Given the description of an element on the screen output the (x, y) to click on. 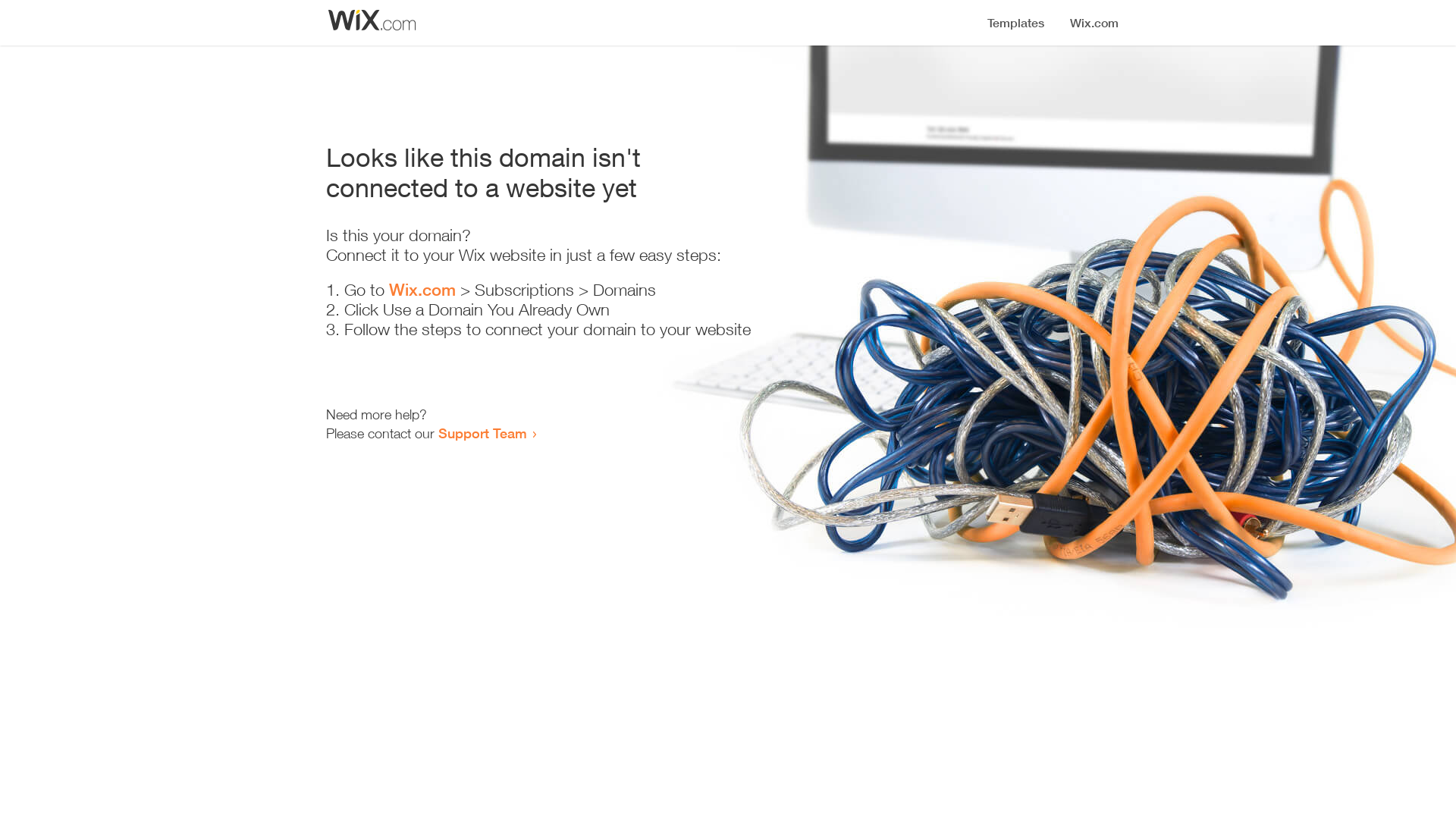
Wix.com Element type: text (422, 289)
Support Team Element type: text (482, 432)
